Given the description of an element on the screen output the (x, y) to click on. 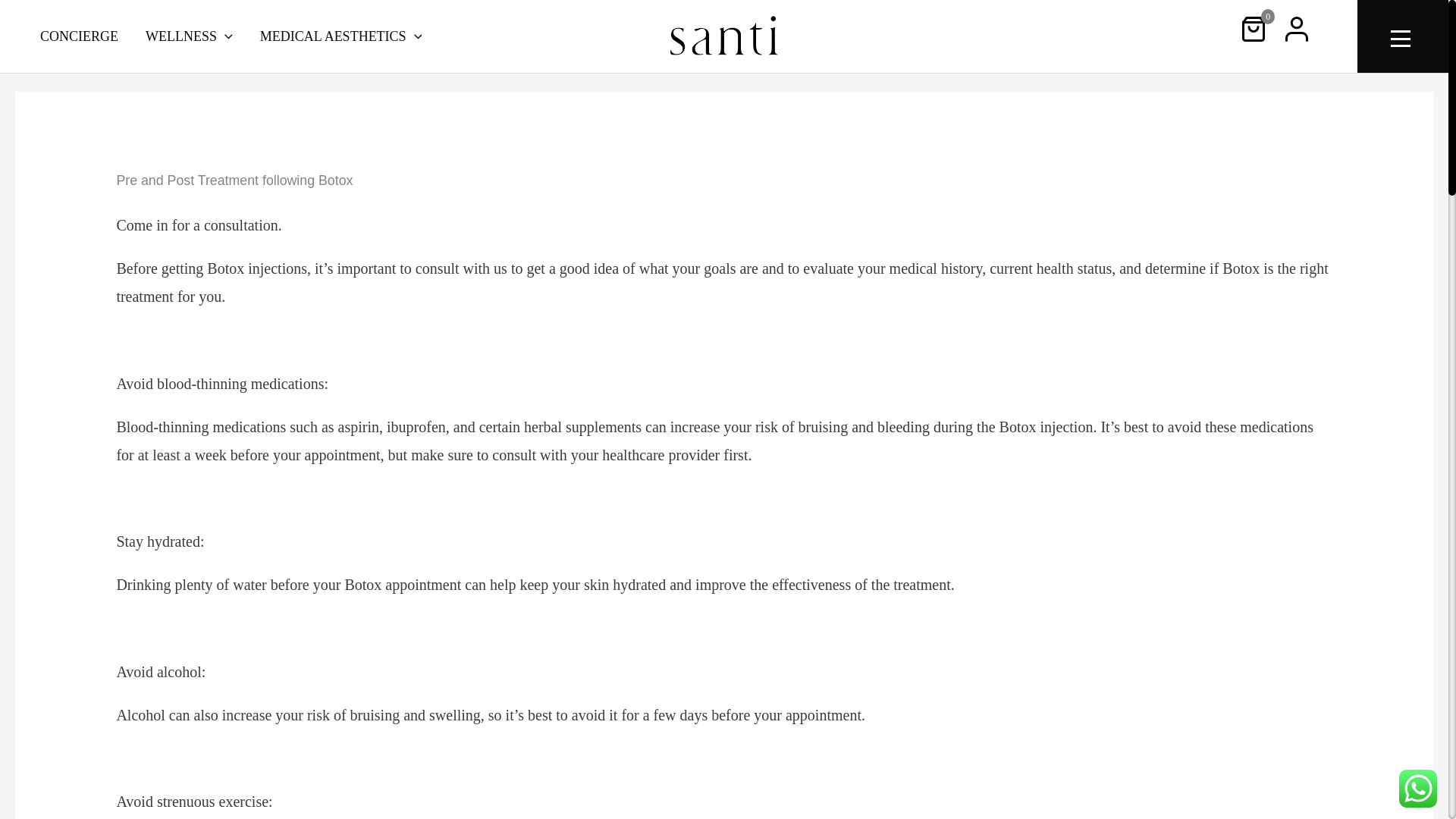
MEDICAL AESTHETICS (340, 36)
WELLNESS (189, 36)
0 (1244, 27)
CONCIERGE (79, 36)
